Given the description of an element on the screen output the (x, y) to click on. 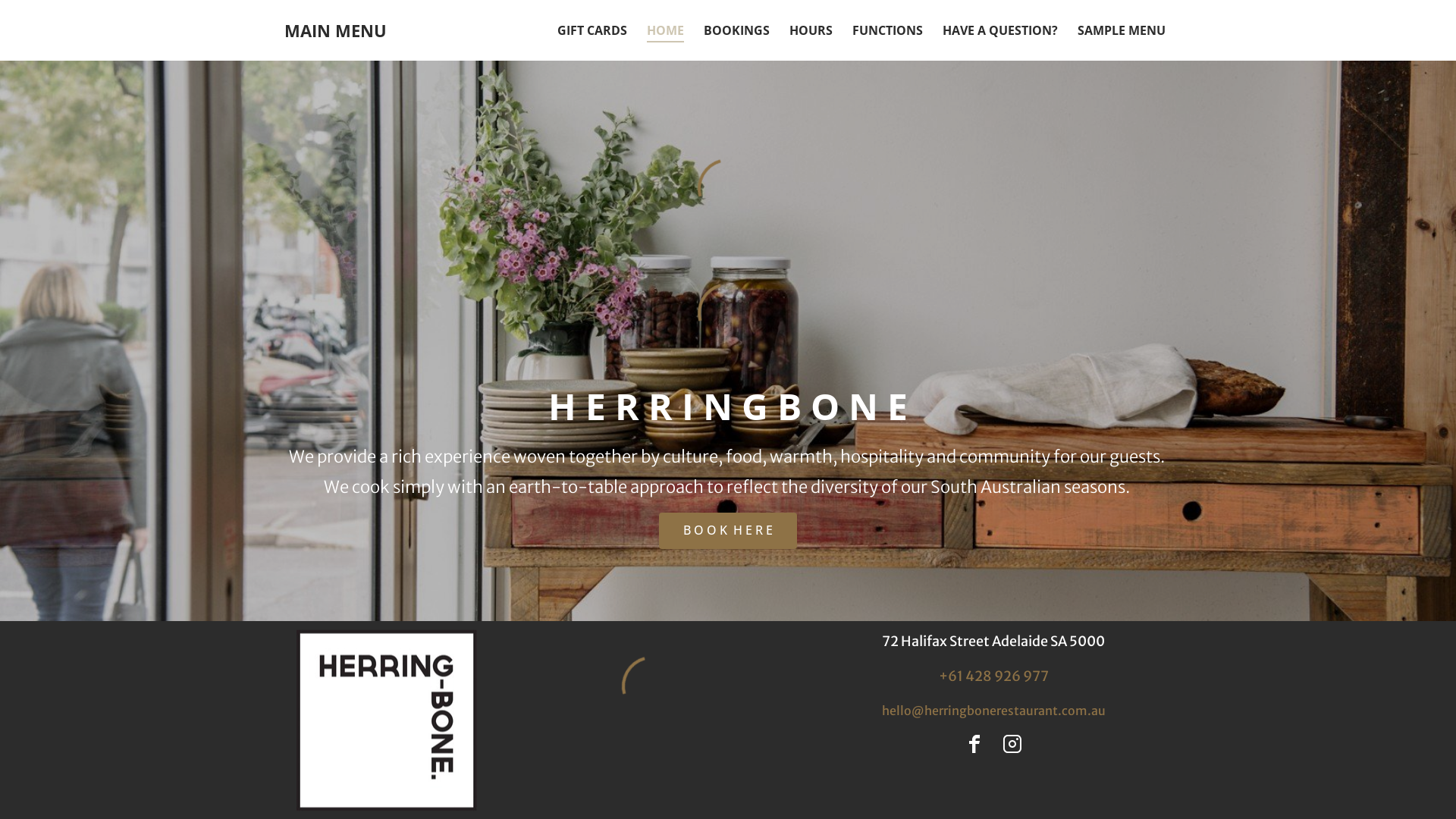
+61 428 926 977 Element type: text (993, 676)
BOOKINGS Element type: text (736, 30)
HOURS Element type: text (810, 30)
hello@herringbonerestaurant.com.au Element type: text (992, 710)
B O O K  H E R E Element type: text (727, 530)
HAVE A QUESTION? Element type: text (999, 30)
SAMPLE MENU Element type: text (1121, 30)
MAIN MENU Element type: text (378, 30)
FUNCTIONS Element type: text (887, 30)
GIFT CARDS Element type: text (592, 30)
HOME Element type: text (665, 30)
72 Halifax Street Adelaide SA 5000 Element type: text (992, 641)
